Given the description of an element on the screen output the (x, y) to click on. 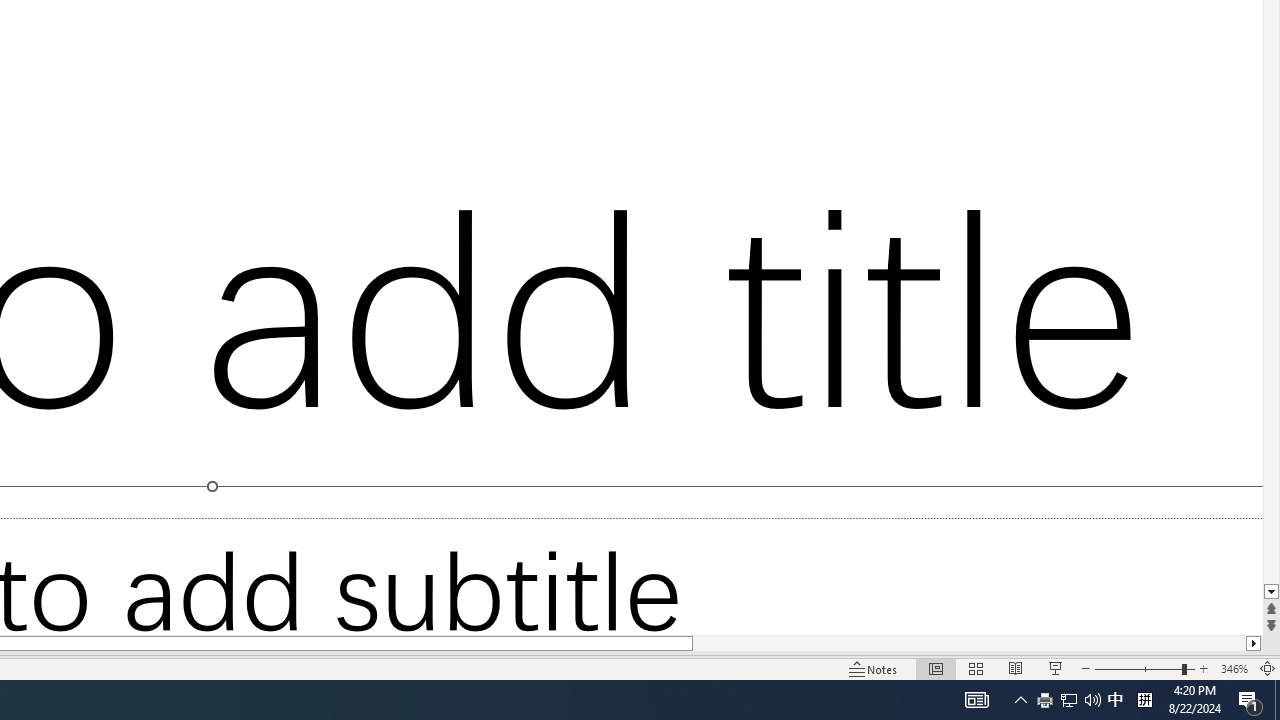
Zoom 346% (1234, 668)
